Given the description of an element on the screen output the (x, y) to click on. 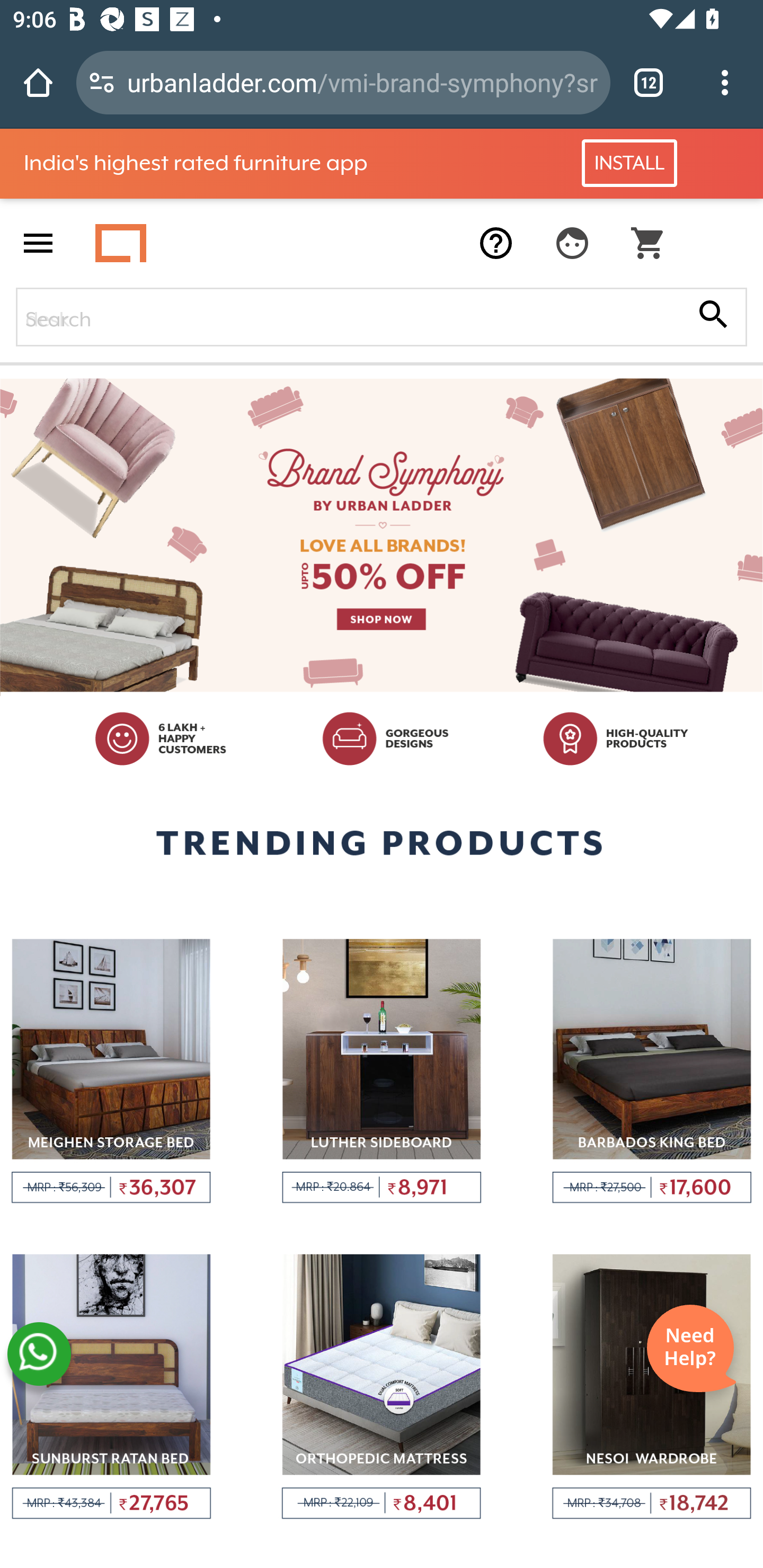
Open the home page (38, 82)
Connection is secure (101, 82)
Switch or close tabs (648, 82)
Customize and control Google Chrome (724, 82)
INSTALL (629, 162)
India's highest rated furniture app (247, 162)
hamburger logo (38, 242)
ul logo (120, 242)
help (495, 242)
 (572, 242)
 (648, 242)
desk (381, 316)
 (713, 315)
VMI_trending_products-1 (111, 1071)
VMI_trending_prodcucts-2 (381, 1071)
VMI_trending_prodcucts-3 (651, 1071)
VMI_trending_prodcut-4 (111, 1387)
VMI_trending_prodcucts-6 (651, 1387)
